Given the description of an element on the screen output the (x, y) to click on. 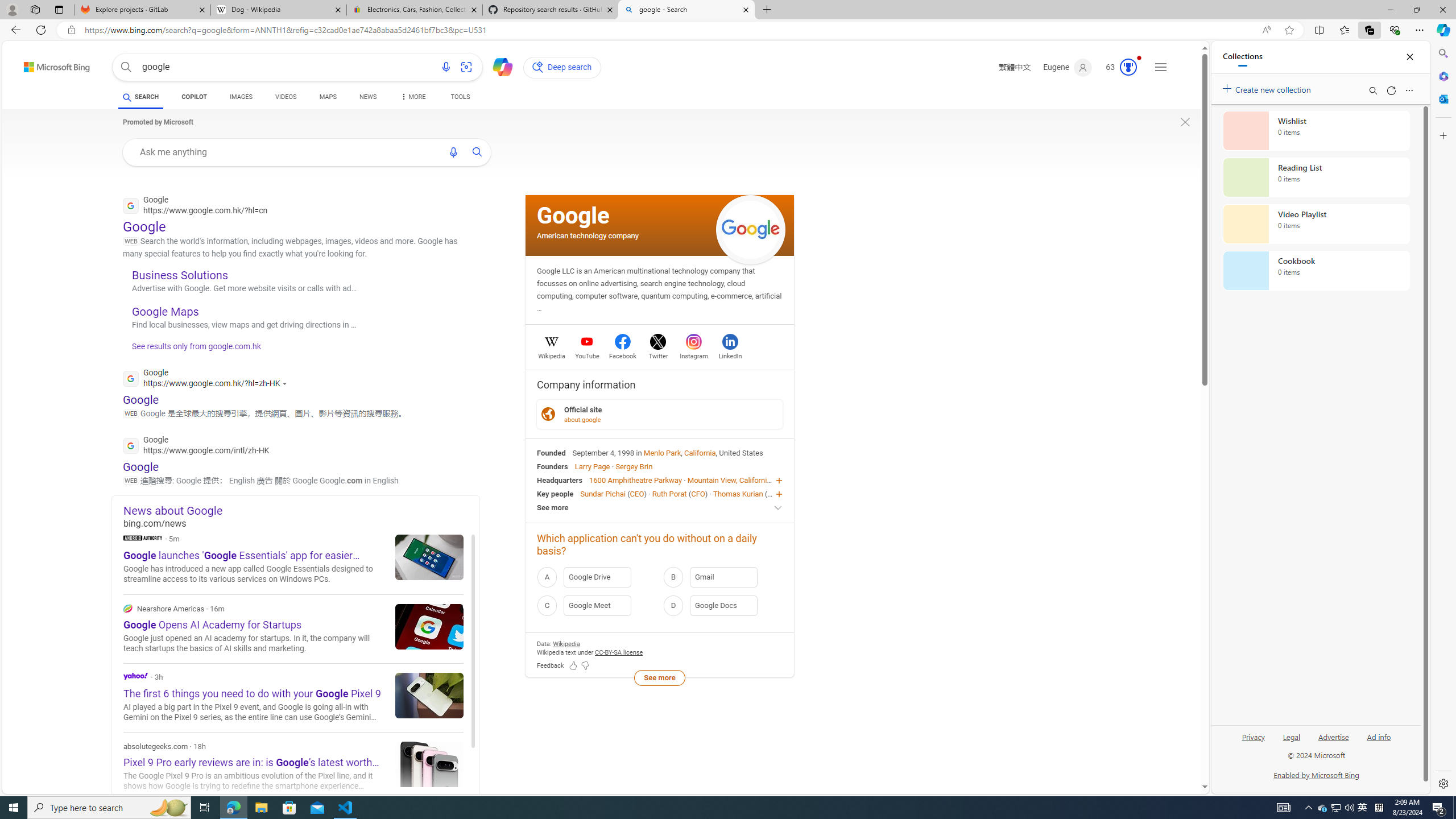
See more (660, 507)
See results only from google.com.hk (191, 348)
Feedback Like (573, 665)
Animation (1139, 57)
VIDEOS (285, 96)
Ad info (1378, 736)
Video Playlist collection, 0 items (1316, 223)
Eugene (1067, 67)
SEARCH (140, 96)
Side bar (1443, 418)
Electronics, Cars, Fashion, Collectibles & More | eBay (414, 9)
Search using an image (465, 66)
Privacy (1253, 736)
